Given the description of an element on the screen output the (x, y) to click on. 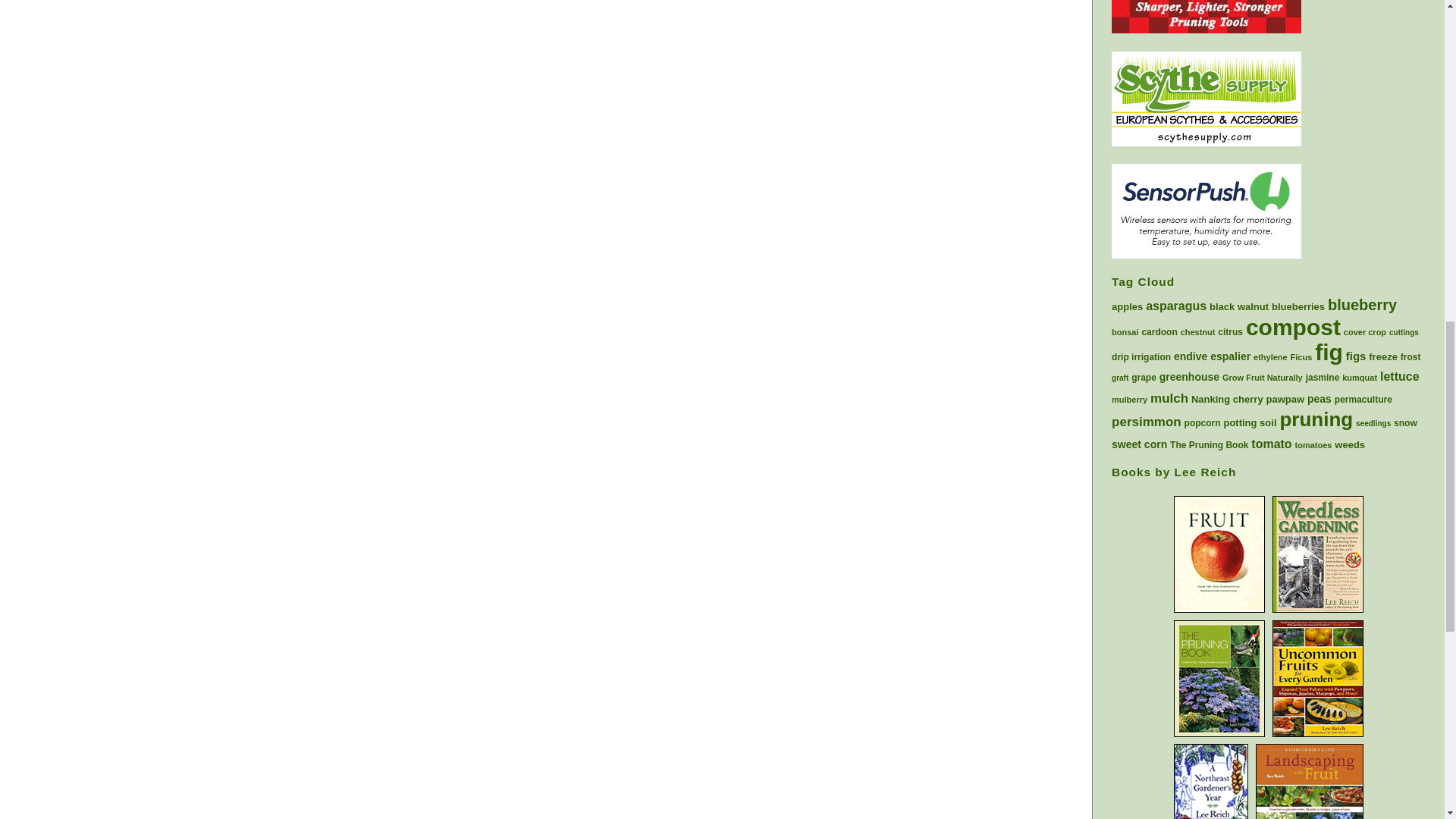
apples (1127, 306)
black walnut (1238, 306)
asparagus (1176, 305)
